Given the description of an element on the screen output the (x, y) to click on. 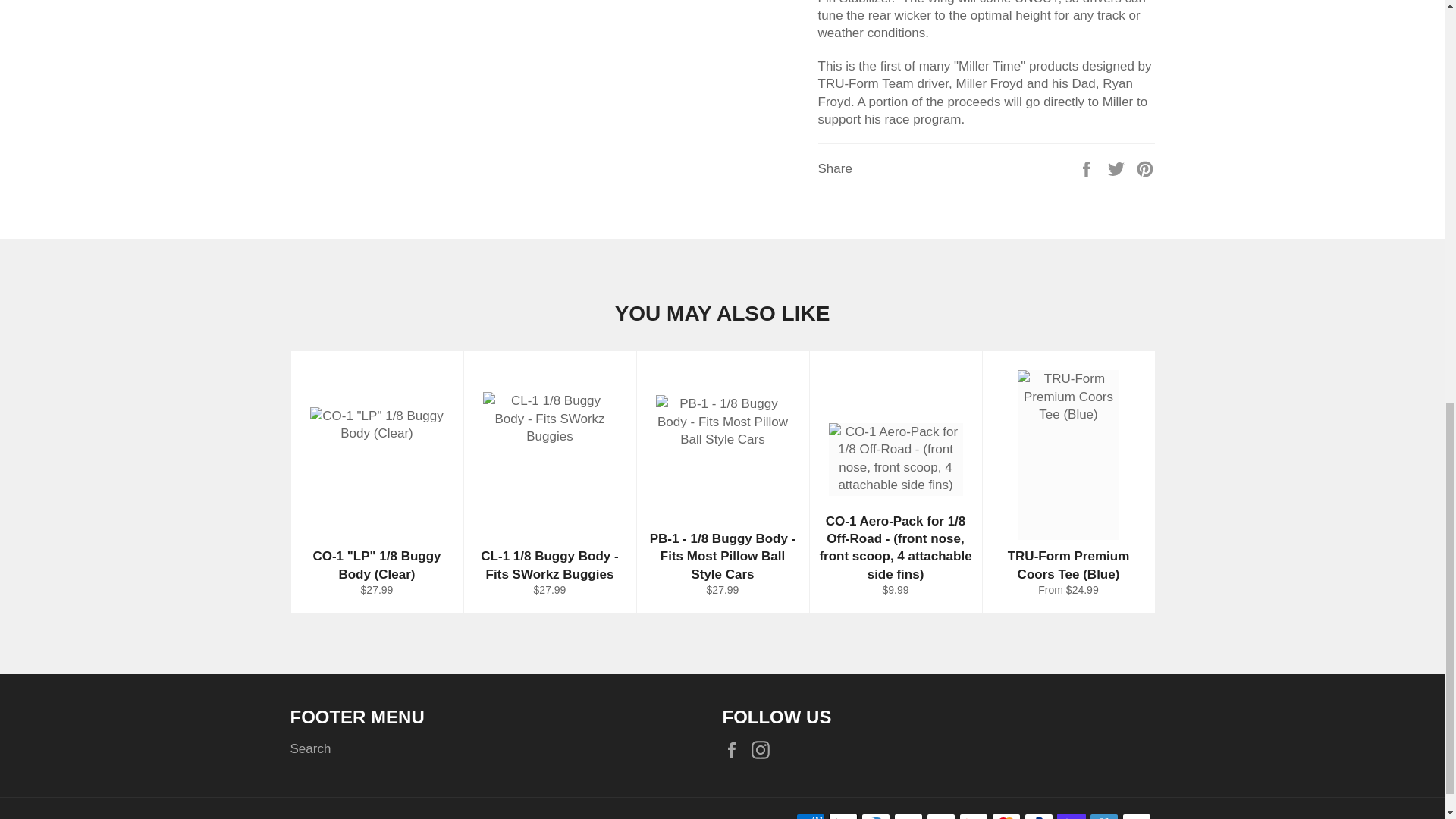
Tweet on Twitter (1117, 167)
Pin on Pinterest (1144, 167)
Share on Facebook (1088, 167)
Share on Facebook (1088, 167)
TruSource Distribution on Facebook (735, 749)
Tweet on Twitter (1117, 167)
TruSource Distribution on Instagram (764, 749)
Pin on Pinterest (1144, 167)
